Given the description of an element on the screen output the (x, y) to click on. 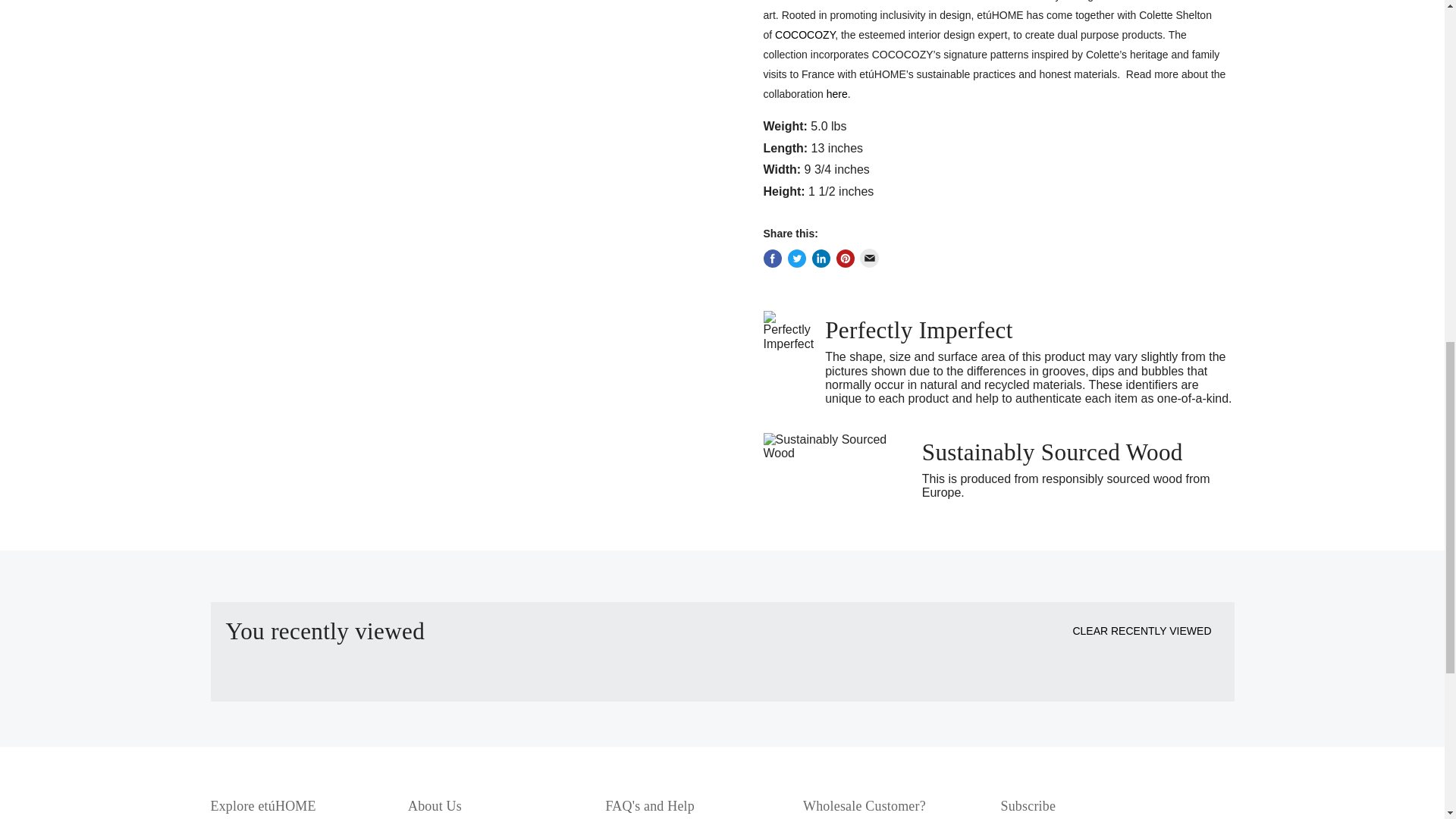
E-mail (870, 258)
Cococozy.com (804, 34)
Behind the Design Blog (837, 93)
